Given the description of an element on the screen output the (x, y) to click on. 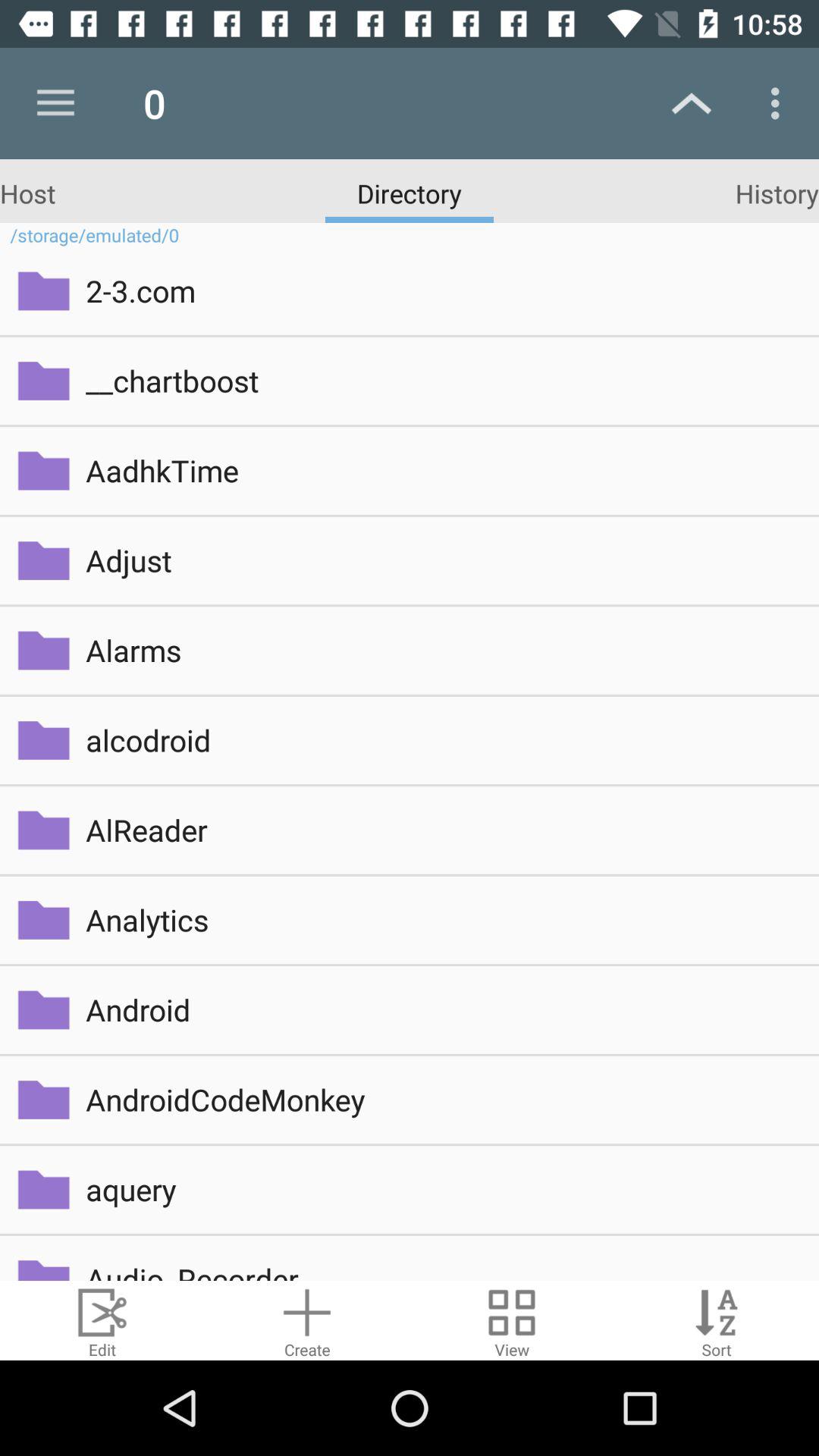
add option (306, 1320)
